Given the description of an element on the screen output the (x, y) to click on. 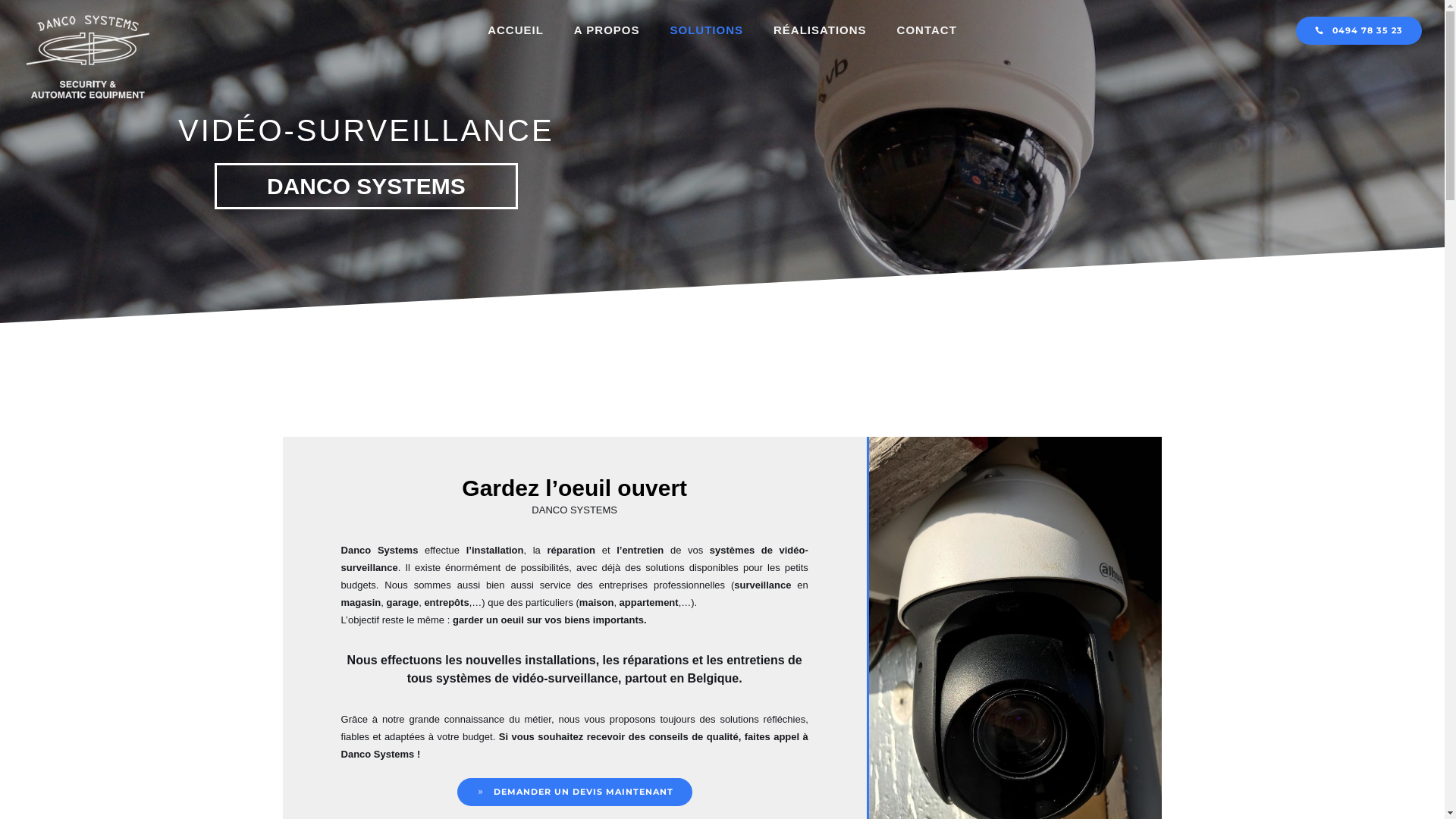
ACCUEIL Element type: text (515, 29)
A PROPOS Element type: text (606, 29)
0494 78 35 23 Element type: text (1358, 30)
CONTACT Element type: text (926, 29)
DEMANDER UN DEVIS MAINTENANT Element type: text (574, 792)
SOLUTIONS Element type: text (707, 29)
